Given the description of an element on the screen output the (x, y) to click on. 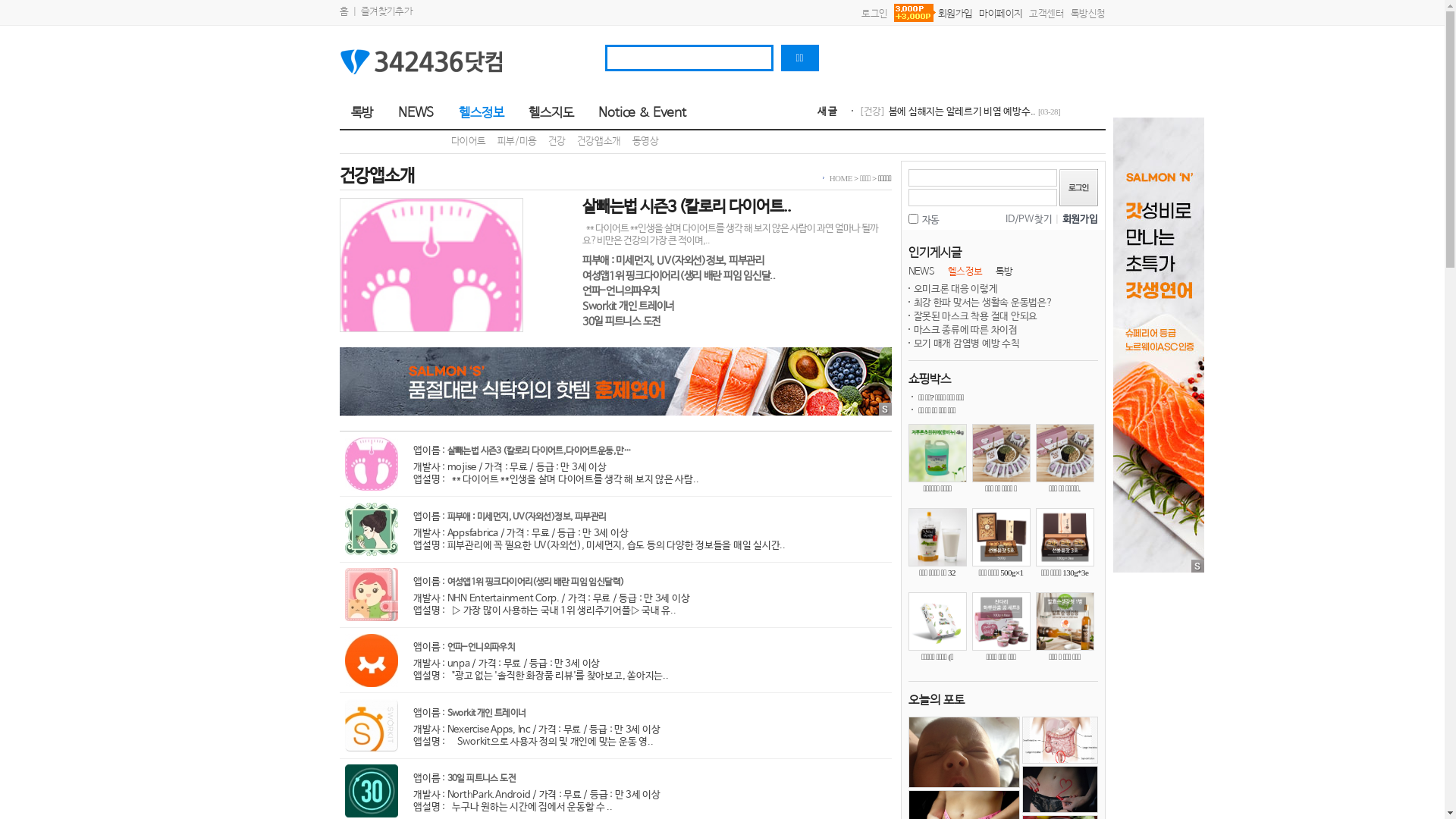
NEWS Element type: text (411, 113)
Notice & Event Element type: text (638, 113)
1 Element type: text (913, 218)
NEWS Element type: text (921, 271)
HOME Element type: text (840, 177)
